Given the description of an element on the screen output the (x, y) to click on. 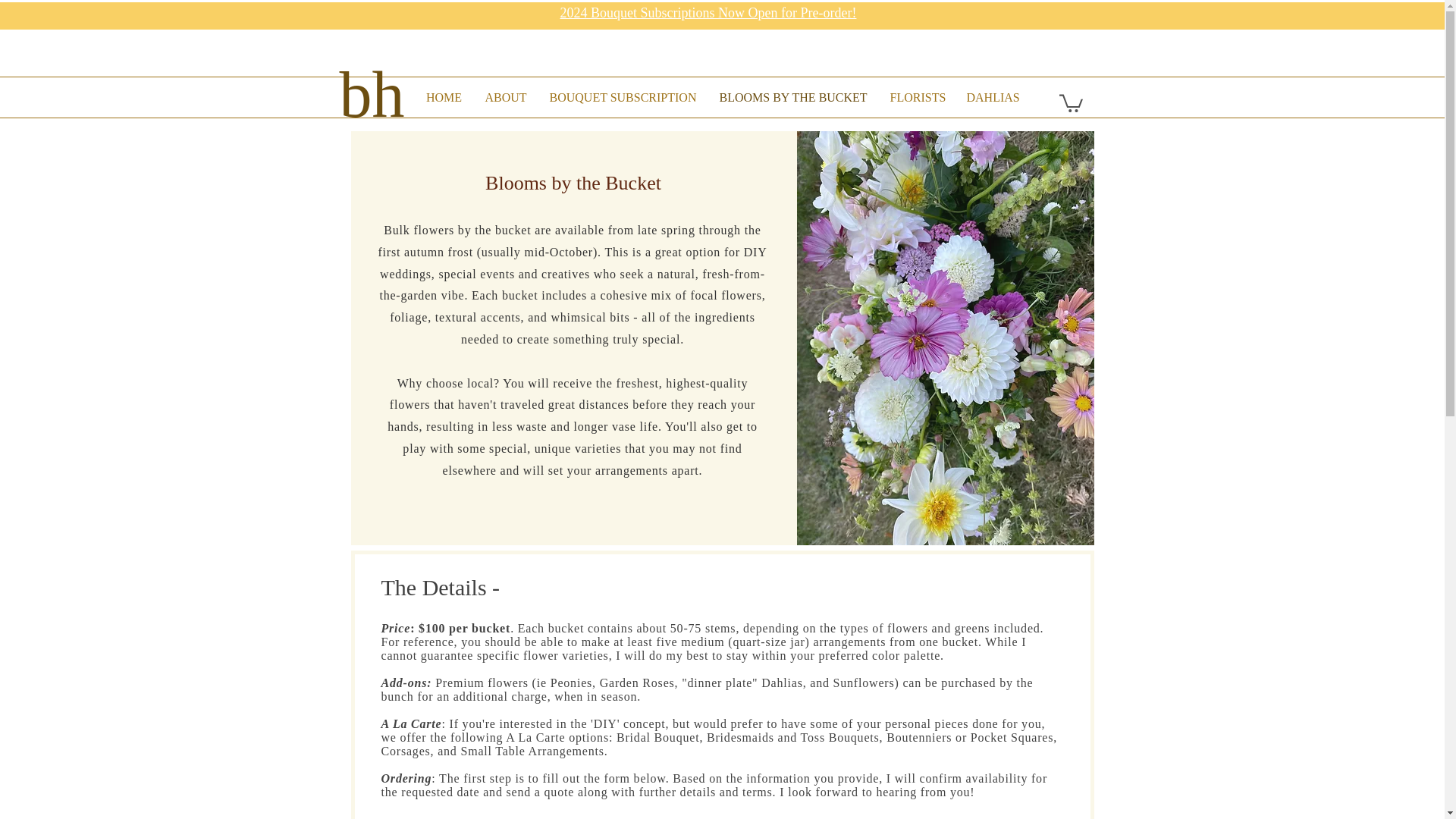
Pin to Pinterest (1064, 522)
DAHLIAS (992, 96)
HOME (443, 96)
bh (371, 94)
BOUQUET SUBSCRIPTION (622, 96)
FLORISTS (916, 96)
BLOOMS BY THE BUCKET (793, 96)
ABOUT (505, 96)
2024 Bouquet Subscriptions Now Open for Pre-order! (707, 12)
